Given the description of an element on the screen output the (x, y) to click on. 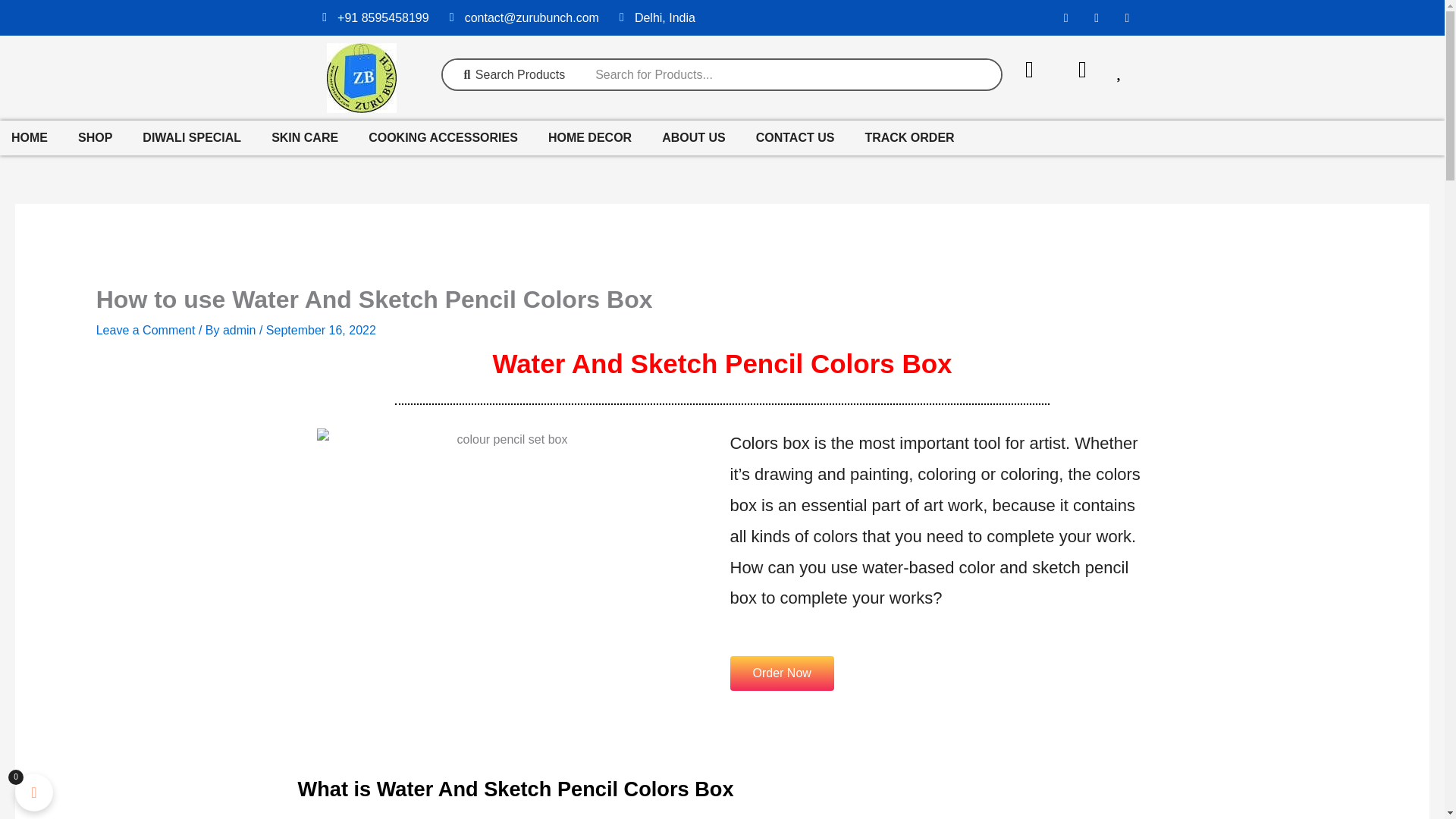
HOME (29, 137)
ABOUT US (693, 137)
SKIN CARE (304, 137)
SHOP (94, 137)
COOKING ACCESSORIES (442, 137)
HOME DECOR (590, 137)
DIWALI SPECIAL (191, 137)
View all posts by admin (240, 329)
TRACK ORDER (909, 137)
Search Products (513, 74)
